Given the description of an element on the screen output the (x, y) to click on. 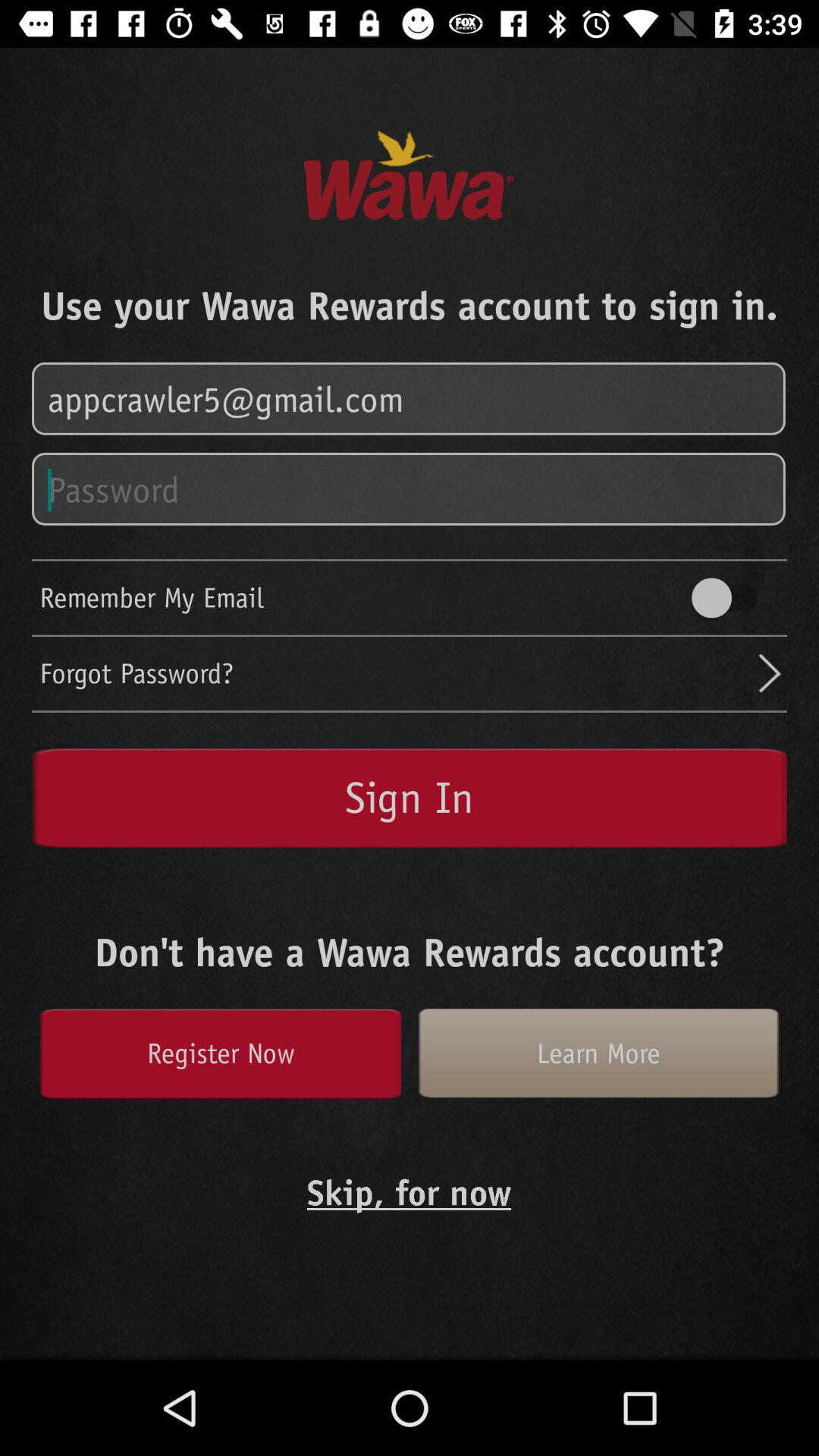
open the icon to the right of remember my email icon (731, 598)
